Given the description of an element on the screen output the (x, y) to click on. 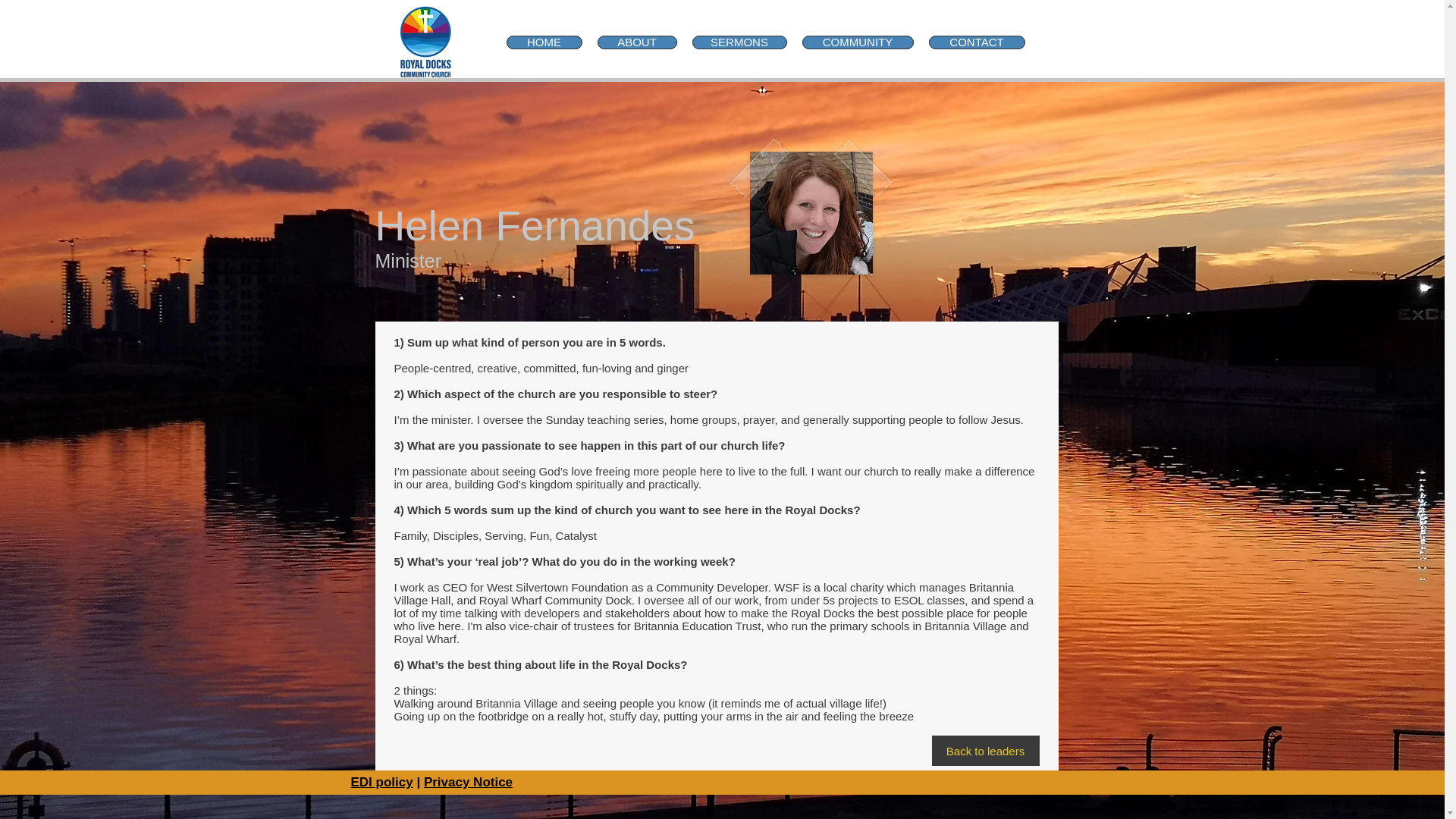
SERMONS (738, 42)
COMMUNITY (858, 42)
CONTACT (976, 42)
Back to leaders (985, 750)
EDI policy (381, 781)
Privacy Notice (467, 781)
ABOUT (636, 42)
HOME (544, 42)
